Given the description of an element on the screen output the (x, y) to click on. 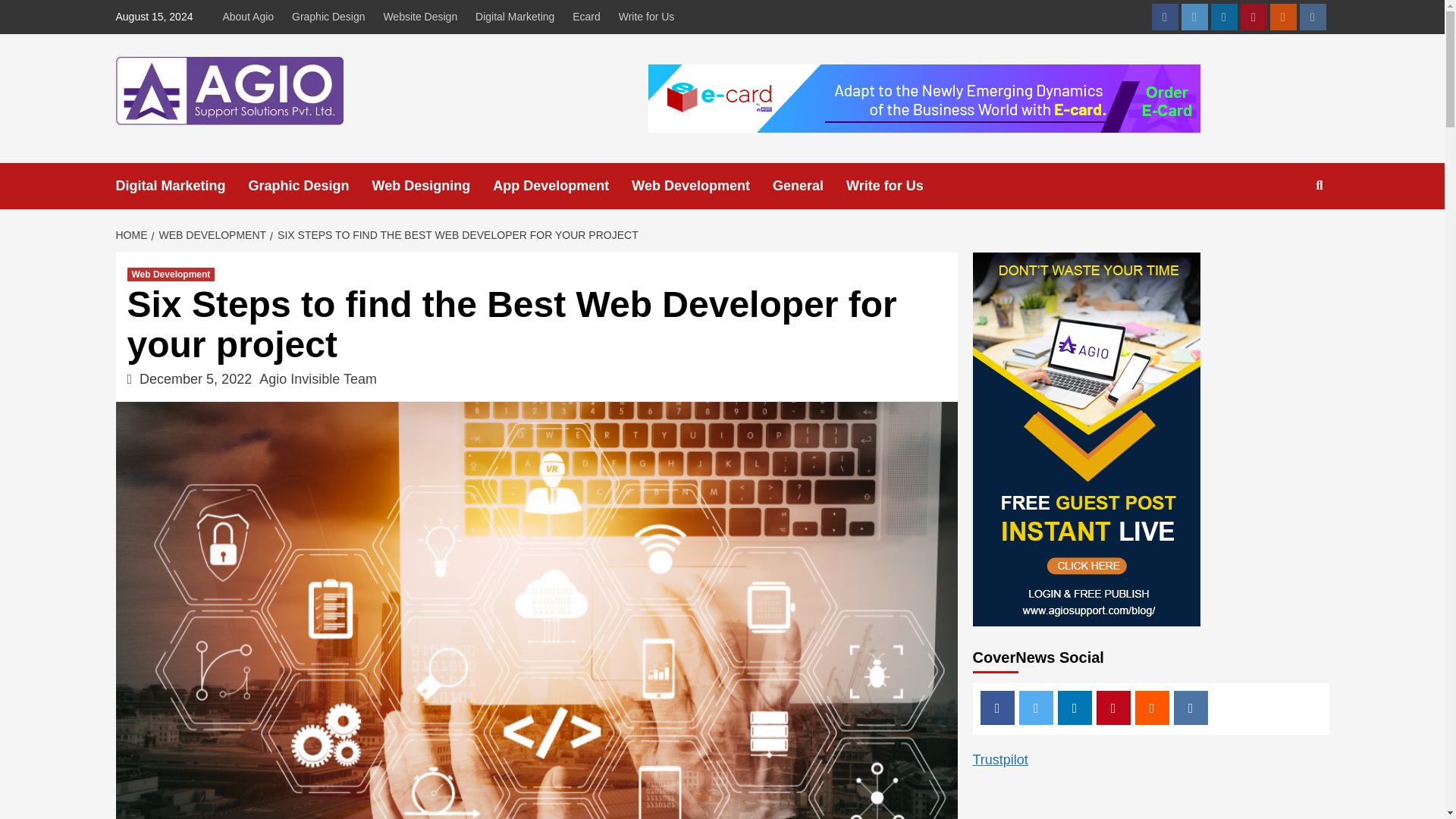
Website Design (419, 17)
Search (1283, 234)
Graphic Design (310, 185)
App Development (562, 185)
Write for Us (895, 185)
Facebook (1164, 17)
HOME (133, 234)
Twitter (1194, 17)
SIX STEPS TO FIND THE BEST WEB DEVELOPER FOR YOUR PROJECT (455, 234)
Web Development (171, 274)
